Given the description of an element on the screen output the (x, y) to click on. 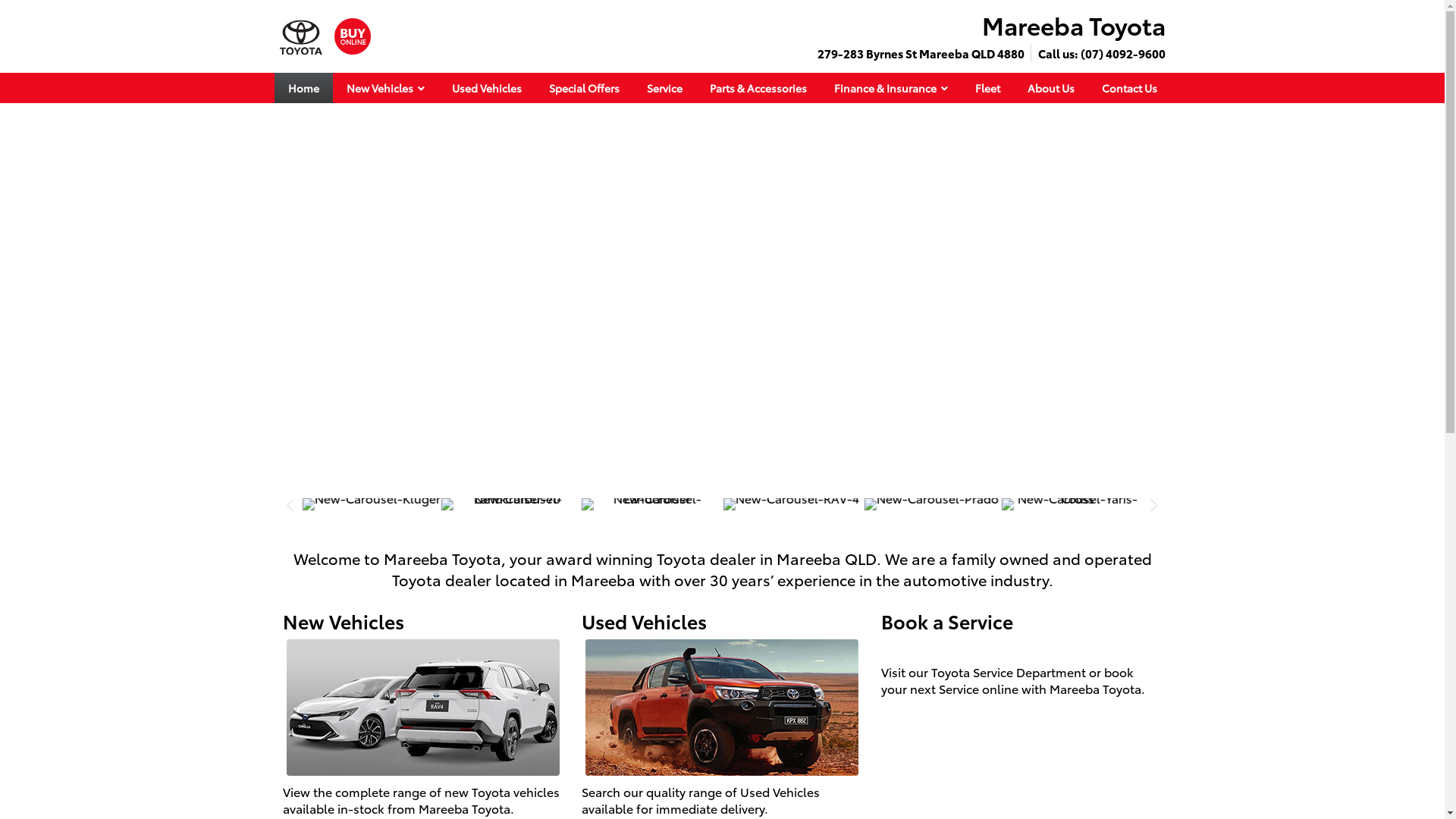
Service Element type: text (663, 87)
New Vehicles Element type: text (384, 87)
Fleet Element type: text (987, 87)
Parts & Accessories Element type: text (758, 87)
Finance & Insurance Element type: text (890, 87)
Home Element type: text (303, 87)
About Us Element type: text (1050, 87)
Contact Us Element type: text (1128, 87)
(07) 4092-9600 Element type: text (1121, 52)
Used Vehicles Element type: text (486, 87)
Special Offers Element type: text (584, 87)
